Given the description of an element on the screen output the (x, y) to click on. 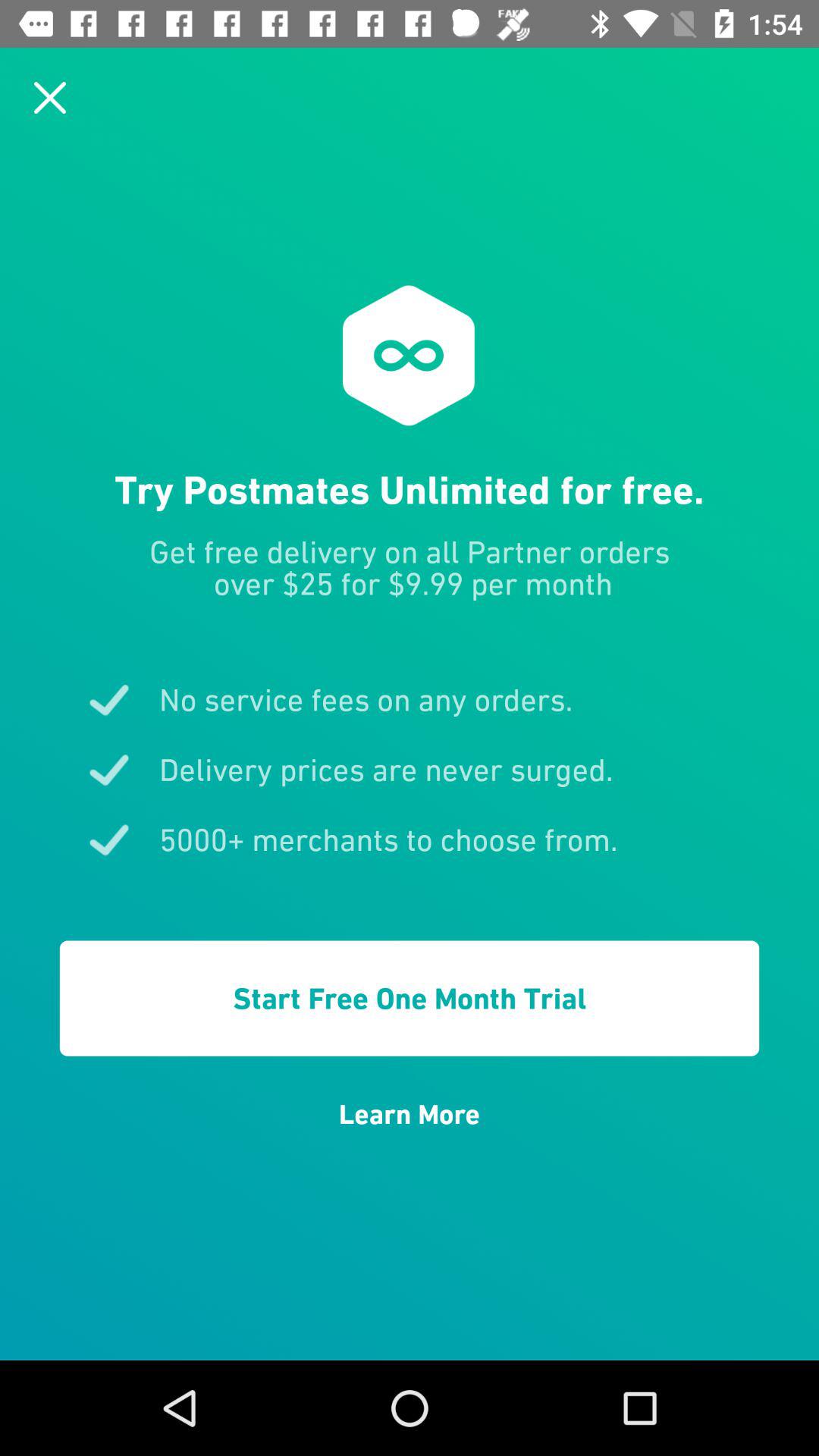
flip until learn more item (409, 1113)
